Given the description of an element on the screen output the (x, y) to click on. 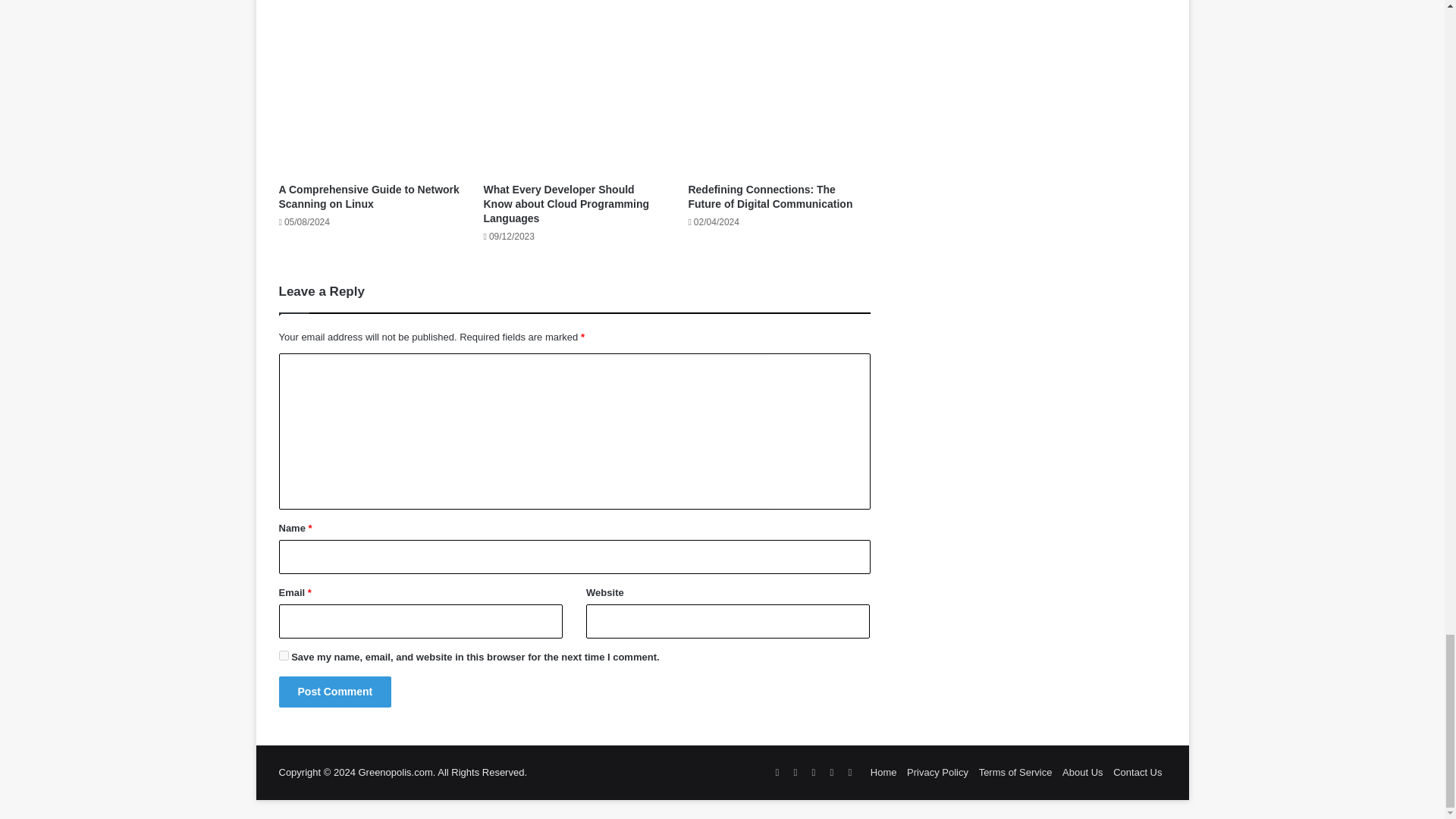
Post Comment (335, 691)
yes (283, 655)
